Given the description of an element on the screen output the (x, y) to click on. 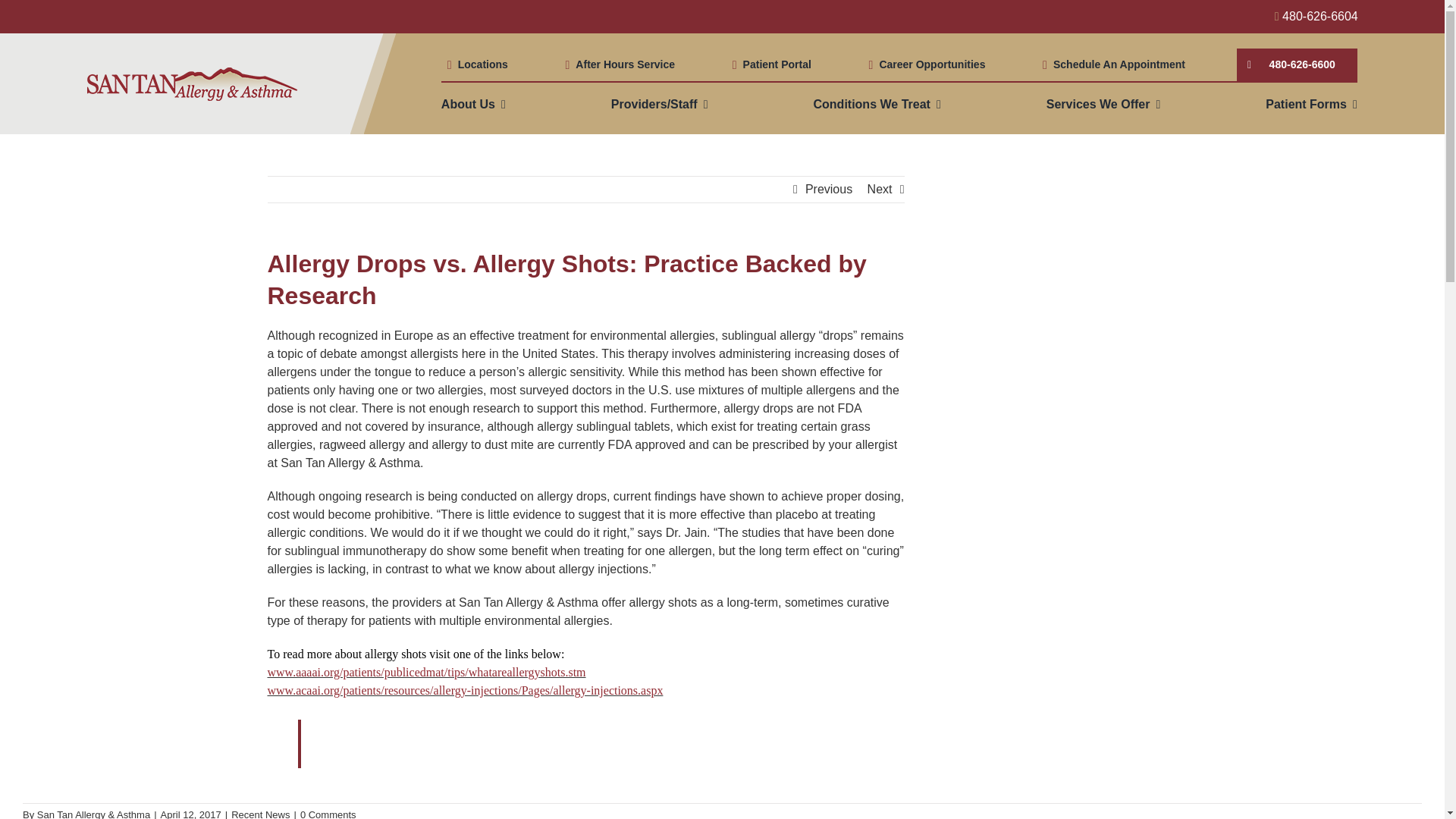
Schedule An Appointment (1110, 64)
Patient Portal (768, 64)
About Us (473, 104)
480-626-6604 (1316, 15)
Locations (474, 64)
Services We Offer (1103, 104)
Conditions We Treat (876, 104)
After Hours Service (617, 64)
Career Opportunities (924, 64)
480-626-6600 (1296, 64)
